Given the description of an element on the screen output the (x, y) to click on. 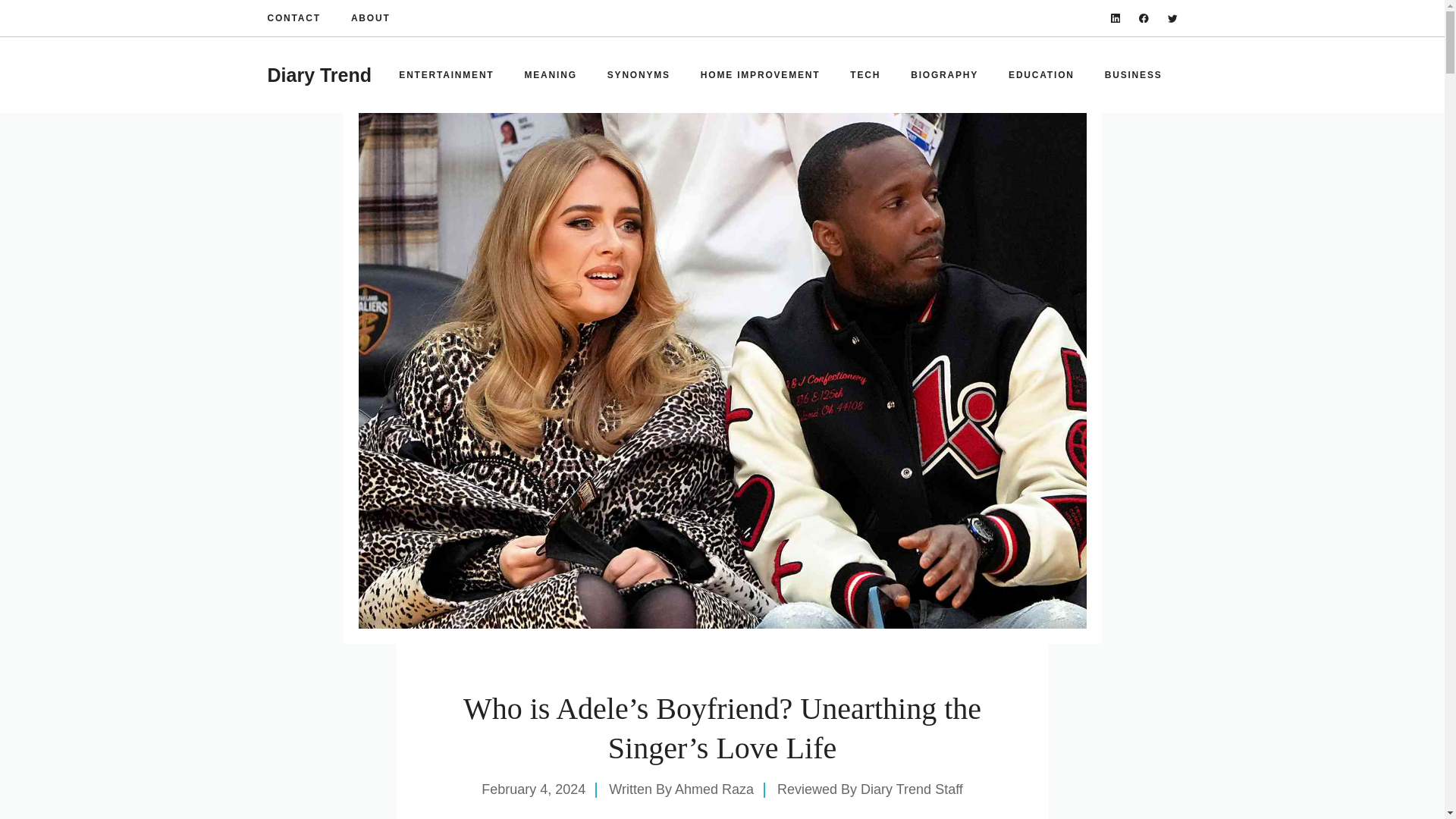
BIOGRAPHY (943, 74)
MEANING (550, 74)
HOME IMPROVEMENT (759, 74)
ABOUT (370, 18)
TECH (864, 74)
SYNONYMS (638, 74)
EDUCATION (1040, 74)
BUSINESS (1133, 74)
CONTACT (293, 18)
ENTERTAINMENT (446, 74)
Diary Trend (318, 74)
